Given the description of an element on the screen output the (x, y) to click on. 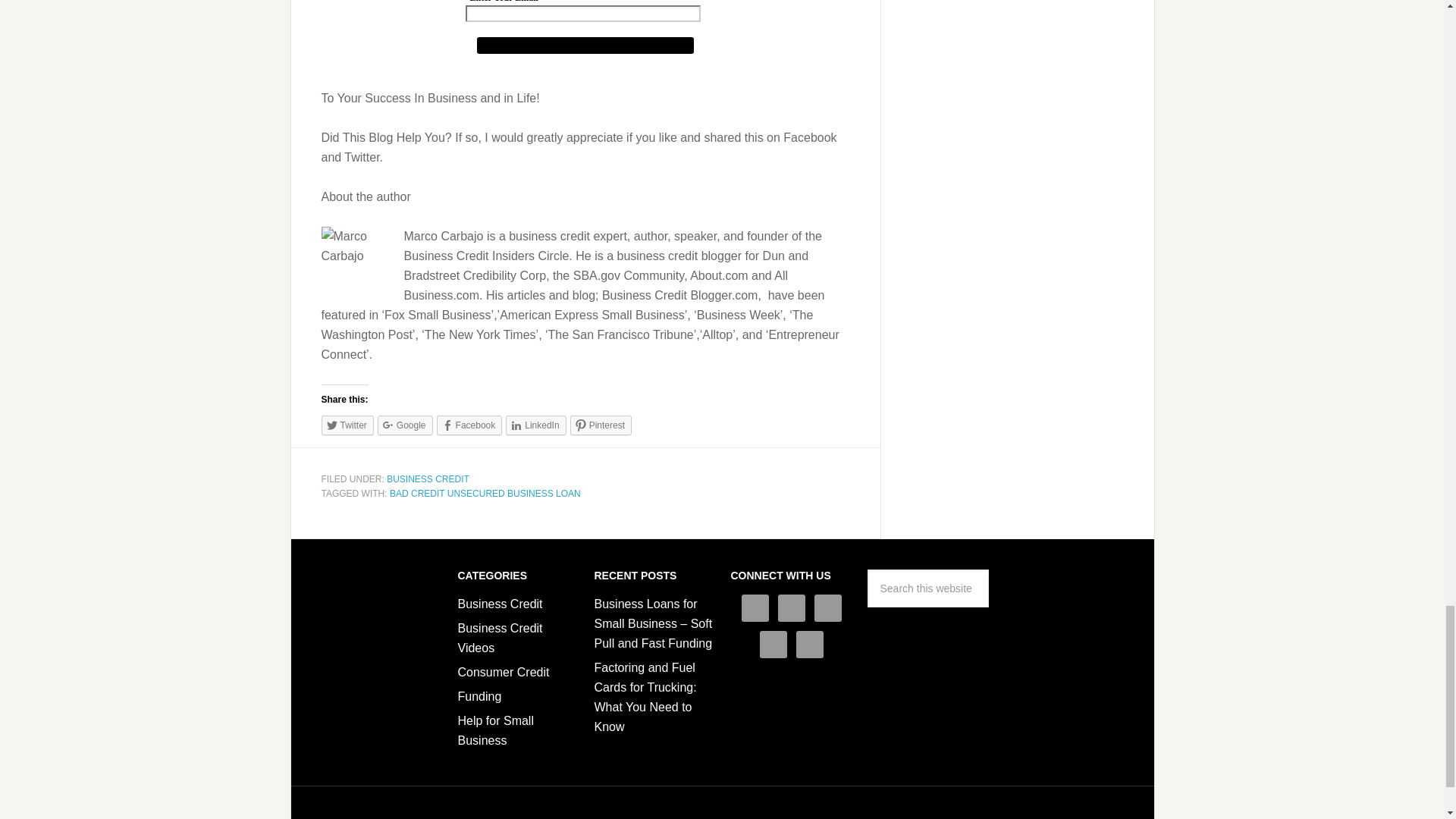
Click to share on Pinterest (600, 424)
Click to share on Twitter (347, 424)
Facebook (469, 424)
Google (404, 424)
Twitter (347, 424)
Click to share on LinkedIn (535, 424)
Click to share on Facebook (469, 424)
LinkedIn (535, 424)
